Given the description of an element on the screen output the (x, y) to click on. 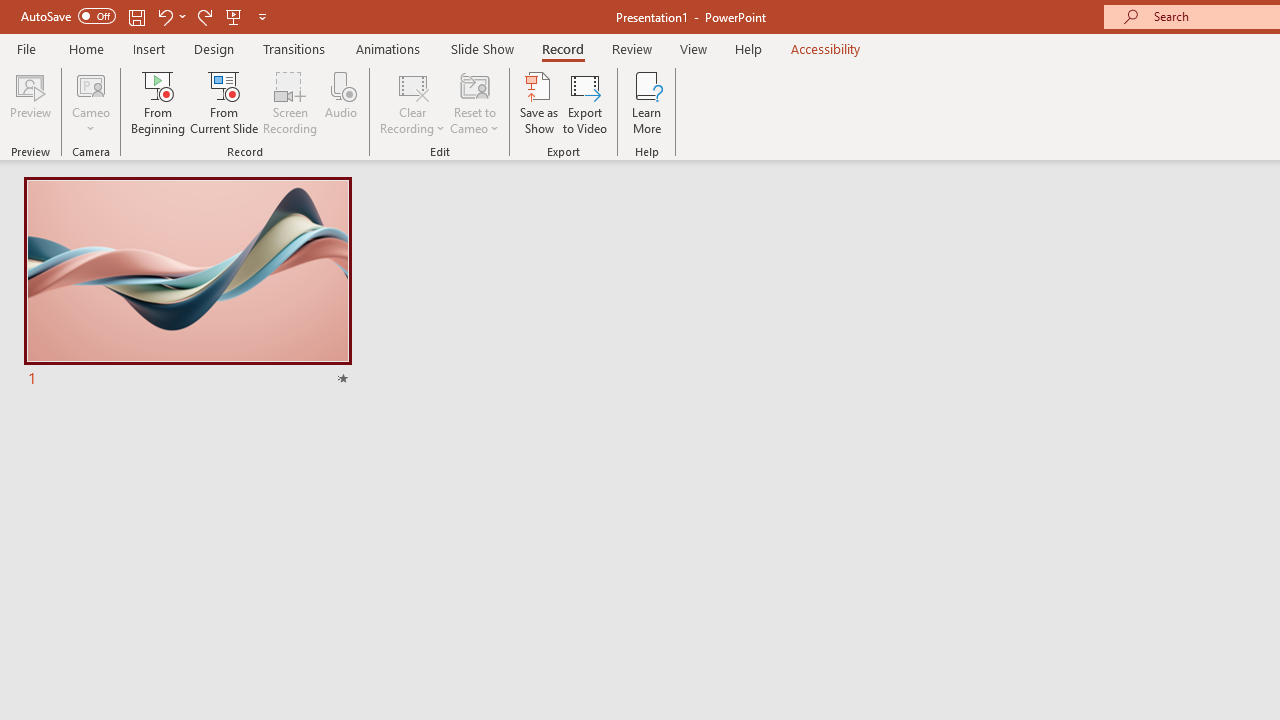
Audio (341, 102)
Clear Recording (412, 102)
Preview (30, 102)
Reset to Cameo (474, 102)
